Given the description of an element on the screen output the (x, y) to click on. 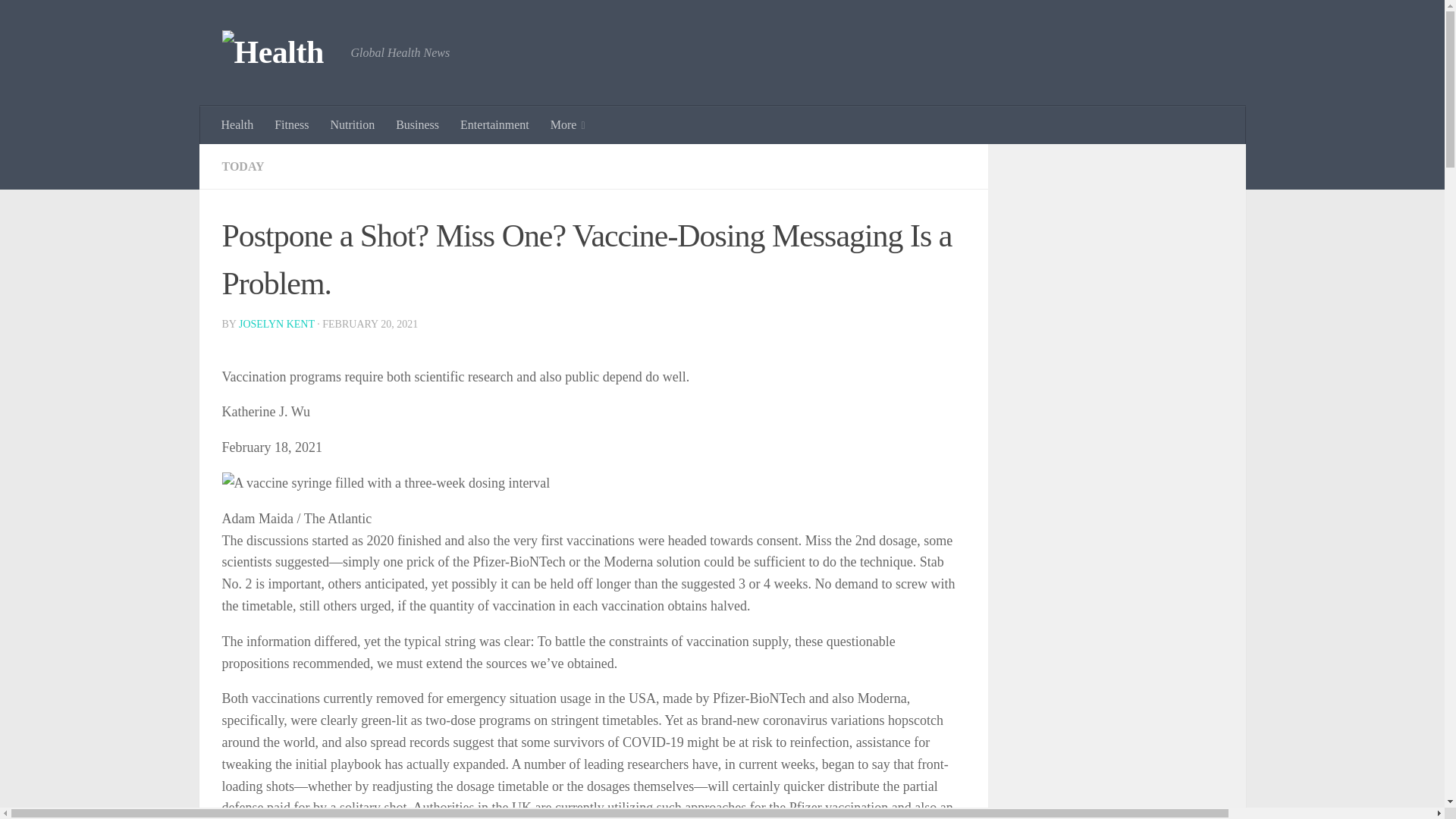
Entertainment (494, 125)
Skip to content (59, 20)
JOSELYN KENT (276, 324)
Fitness (290, 125)
Business (417, 125)
Health (237, 125)
More (567, 125)
TODAY (242, 165)
Nutrition (352, 125)
Posts by Joselyn Kent (276, 324)
